Given the description of an element on the screen output the (x, y) to click on. 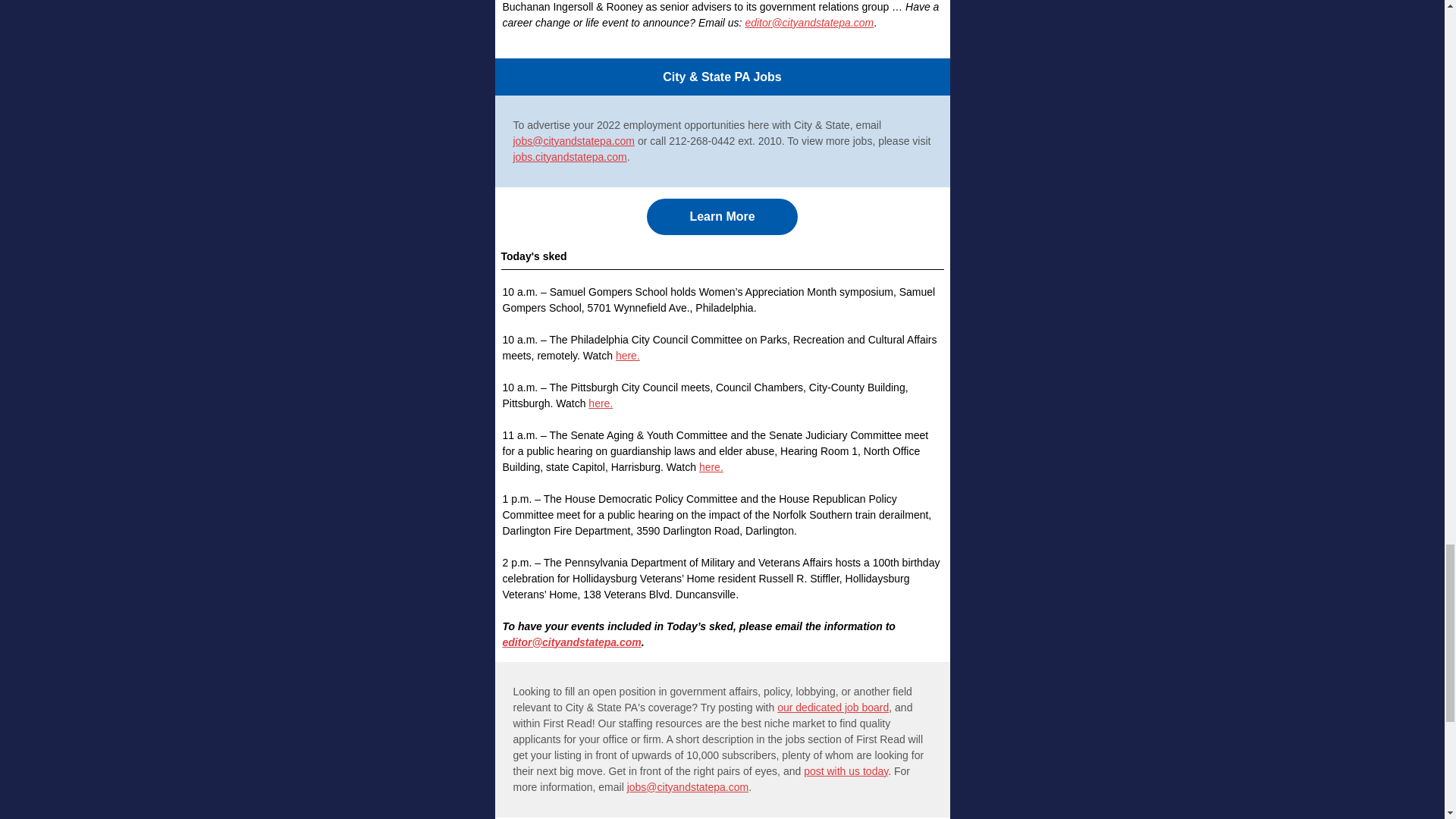
here. (710, 467)
post with us today (845, 770)
Learn More (721, 217)
our dedicated job board (832, 707)
here. (600, 403)
here. (627, 355)
jobs.cityandstatepa.com (569, 156)
